Given the description of an element on the screen output the (x, y) to click on. 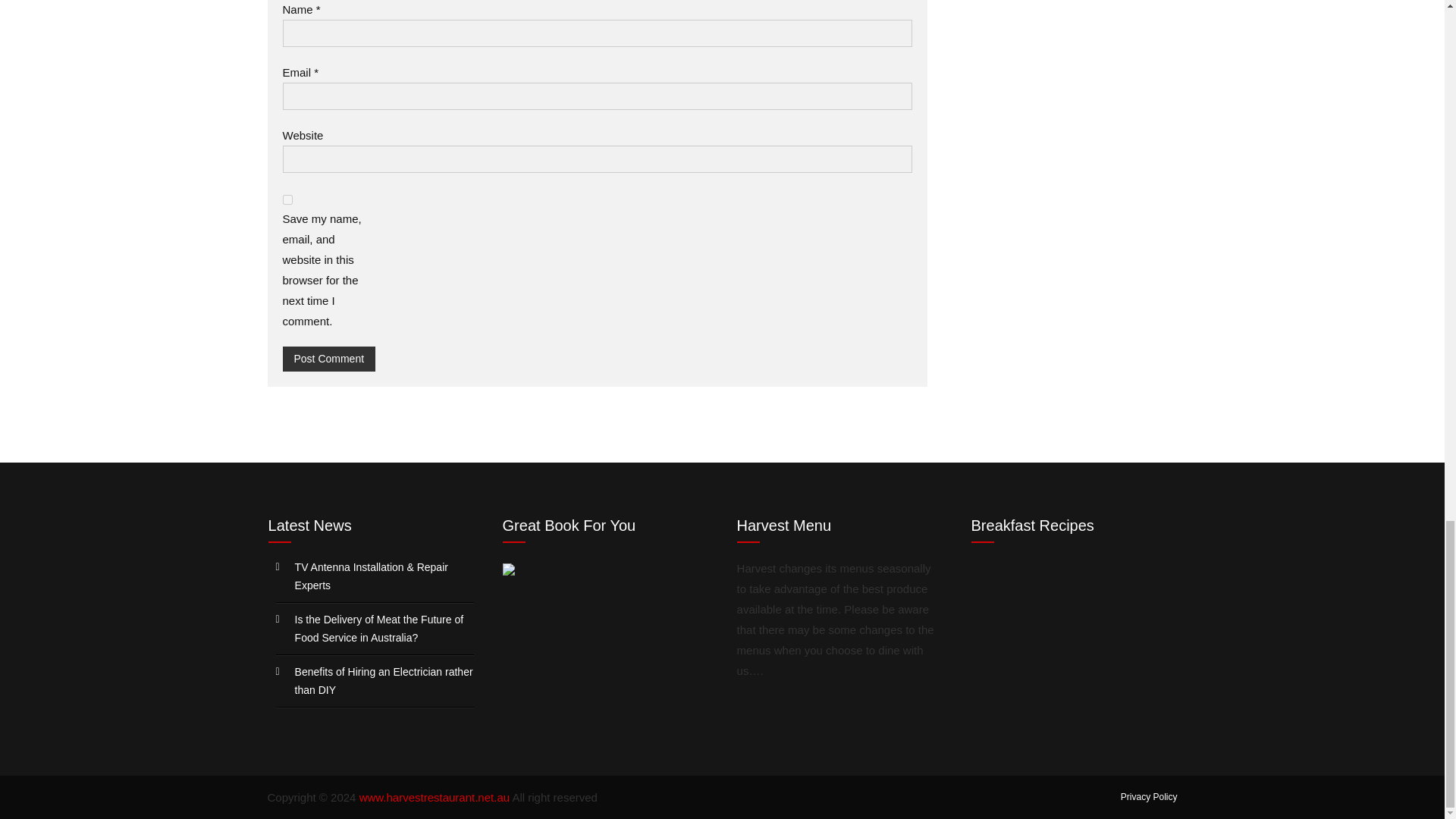
Post Comment (328, 358)
Benefits of Hiring an Electrician rather than DIY (384, 680)
yes (287, 199)
www.harvestrestaurant.net.au (434, 797)
Post Comment (328, 358)
Privacy Policy (1149, 796)
